Given the description of an element on the screen output the (x, y) to click on. 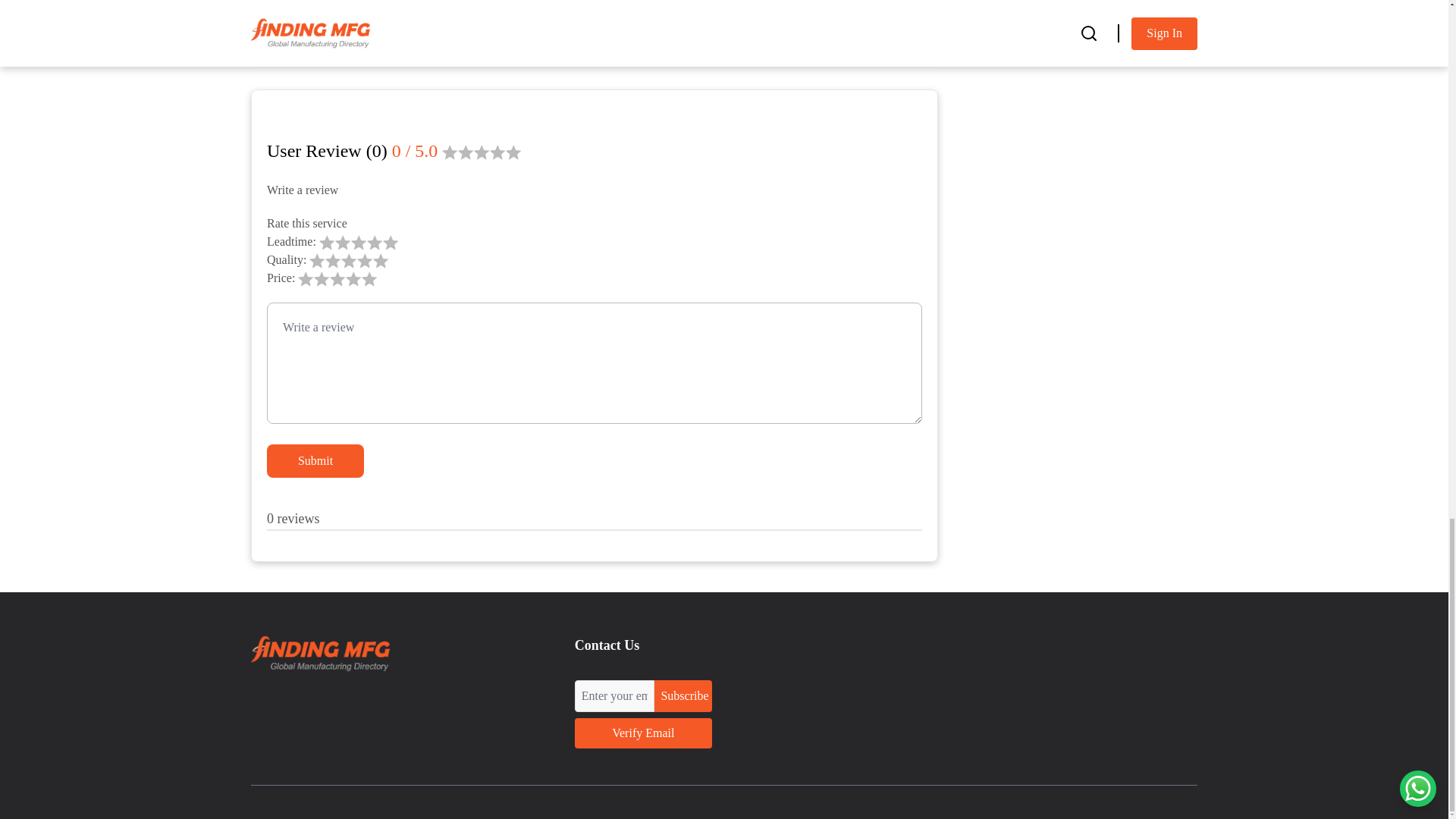
Subscribe (682, 695)
Submit (315, 460)
Verify Email (643, 733)
